Given the description of an element on the screen output the (x, y) to click on. 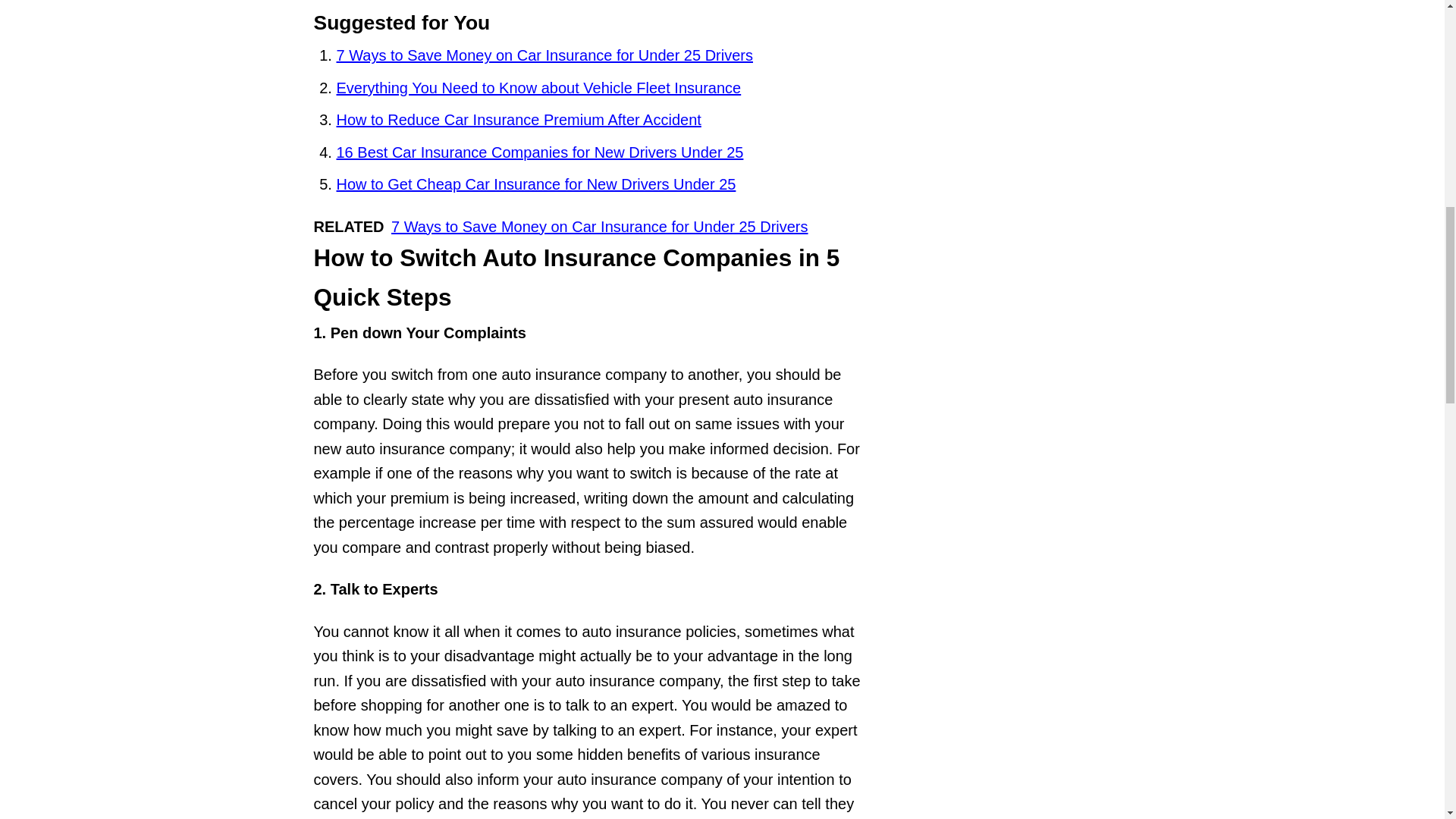
How to Reduce Car Insurance Premium After Accident (518, 119)
Everything You Need to Know about Vehicle Fleet Insurance (538, 87)
How to Get Cheap Car Insurance for New Drivers Under 25 (536, 184)
7 Ways to Save Money on Car Insurance for Under 25 Drivers (599, 226)
16 Best Car Insurance Companies for New Drivers Under 25 (540, 152)
How to Reduce Car Insurance Premium After Accident (518, 119)
7 Ways to Save Money on Car Insurance for Under 25 Drivers (545, 54)
16 Best Car Insurance Companies for New Drivers Under 25 (540, 152)
How to Get Cheap Car Insurance for New Drivers Under 25 (536, 184)
7 Ways to Save Money on Car Insurance for Under 25 Drivers (545, 54)
Everything You Need to Know about Vehicle Fleet Insurance (538, 87)
